Given the description of an element on the screen output the (x, y) to click on. 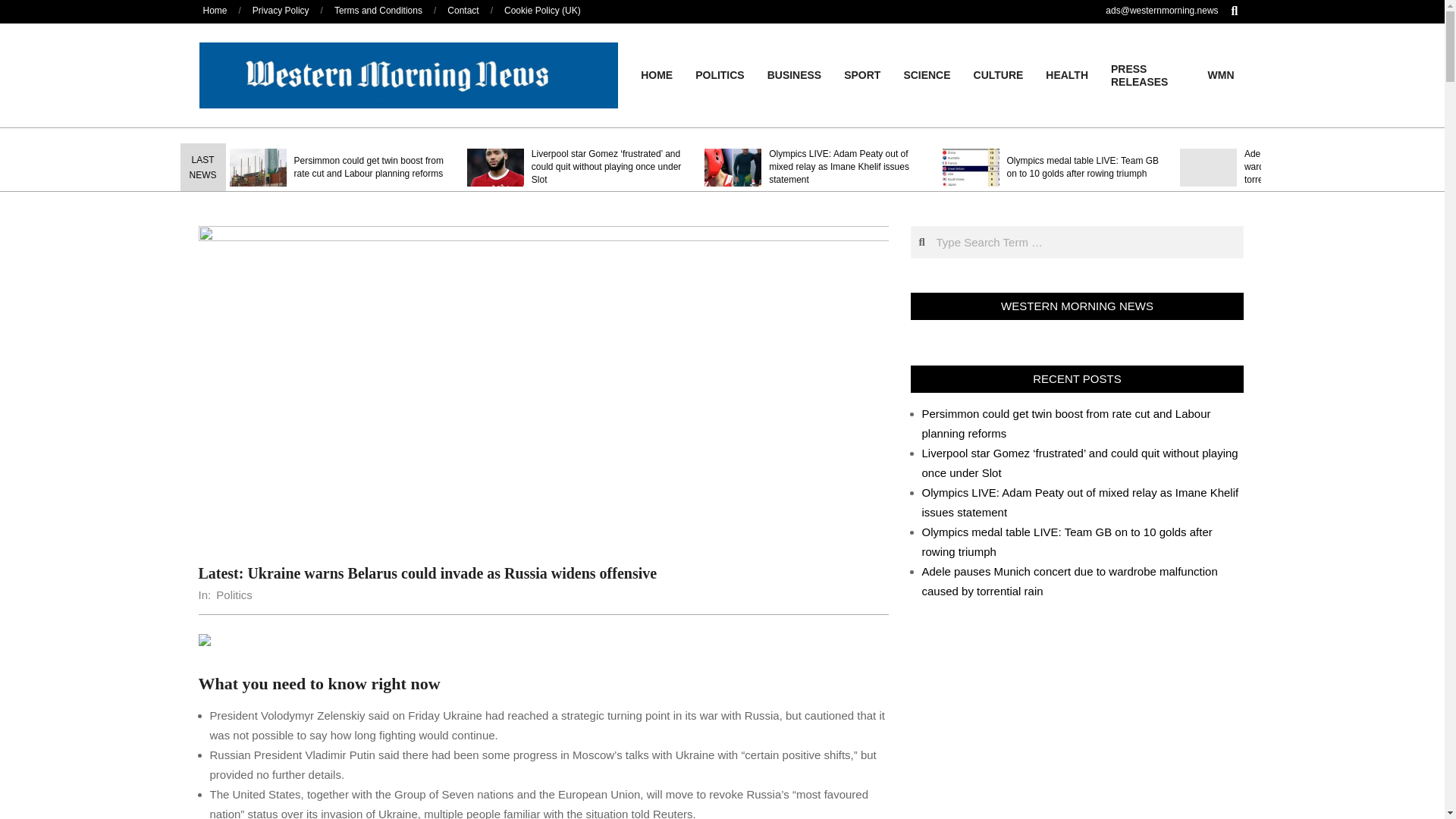
Home (215, 9)
CULTURE (998, 74)
Privacy Policy (279, 9)
SPORT (861, 74)
HEALTH (1066, 74)
PRESS RELEASES (1147, 75)
BUSINESS (793, 74)
HOME (656, 74)
WMN (1221, 74)
Terms and Conditions (378, 9)
Search (21, 8)
Contact (462, 9)
